Given the description of an element on the screen output the (x, y) to click on. 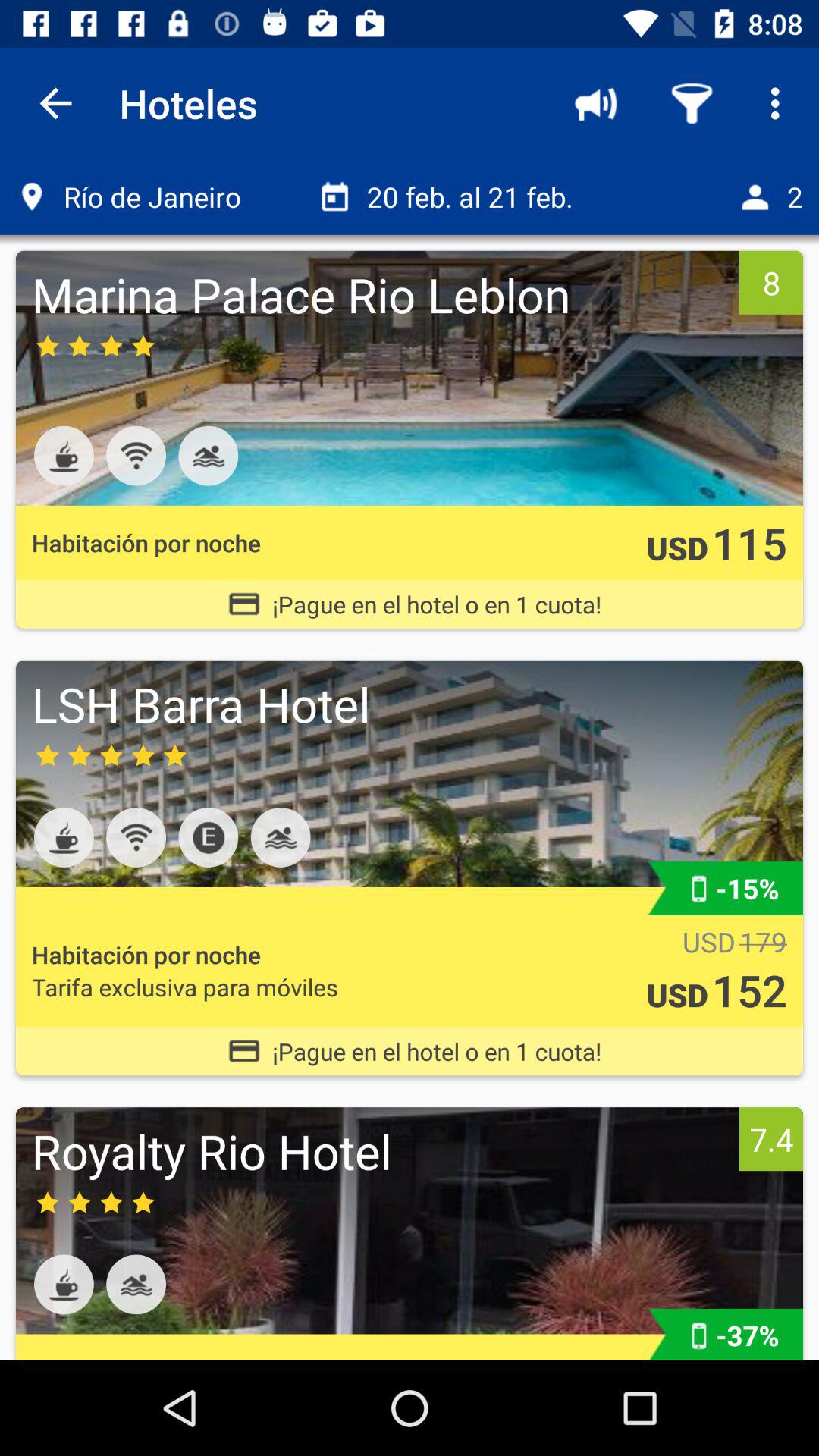
open the app to the left of hoteles item (55, 103)
